Given the description of an element on the screen output the (x, y) to click on. 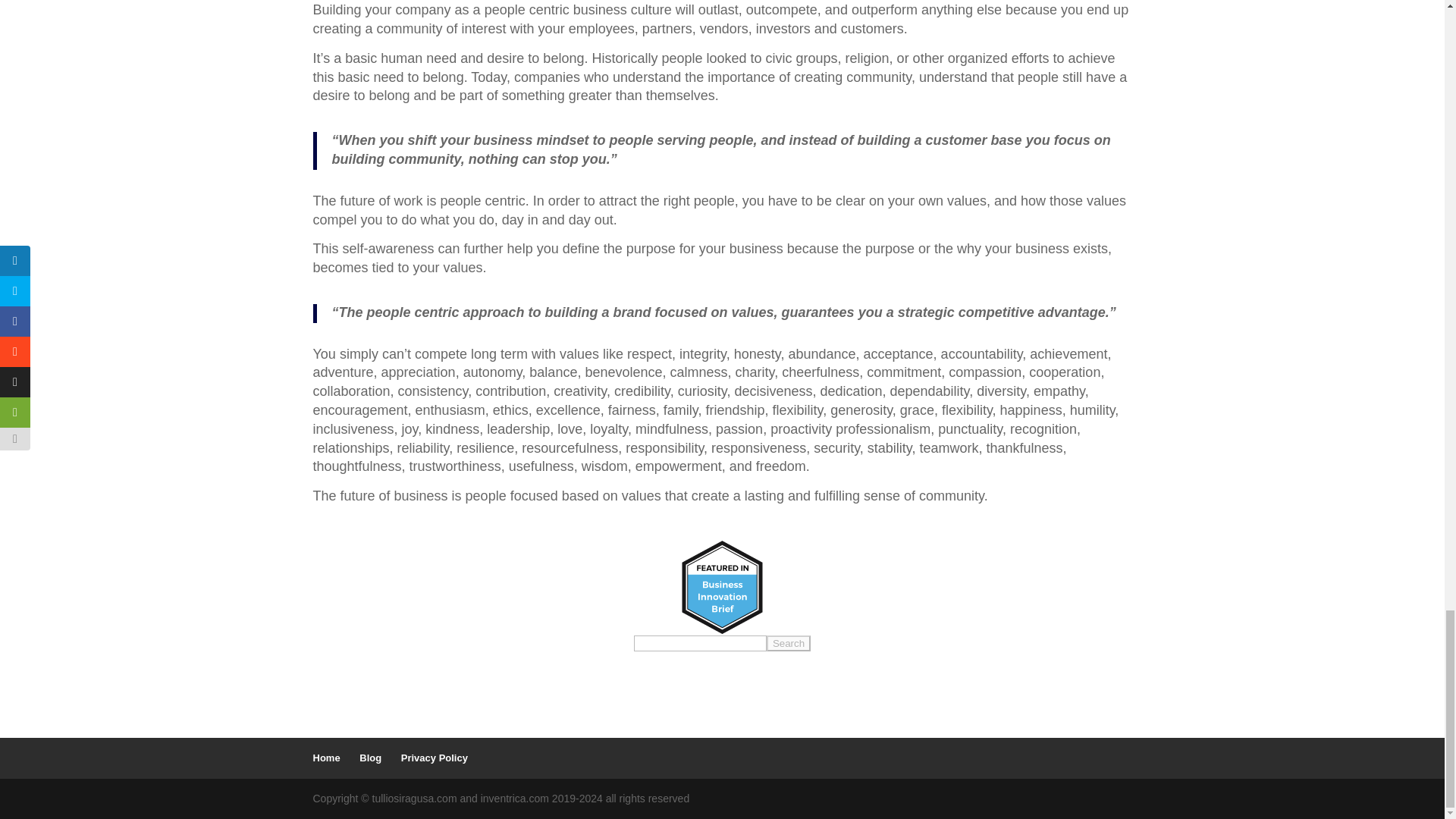
Business Innovation Brief (722, 586)
Blog (370, 757)
Privacy Policy (434, 757)
Home (326, 757)
Search (788, 643)
Search (788, 643)
